Given the description of an element on the screen output the (x, y) to click on. 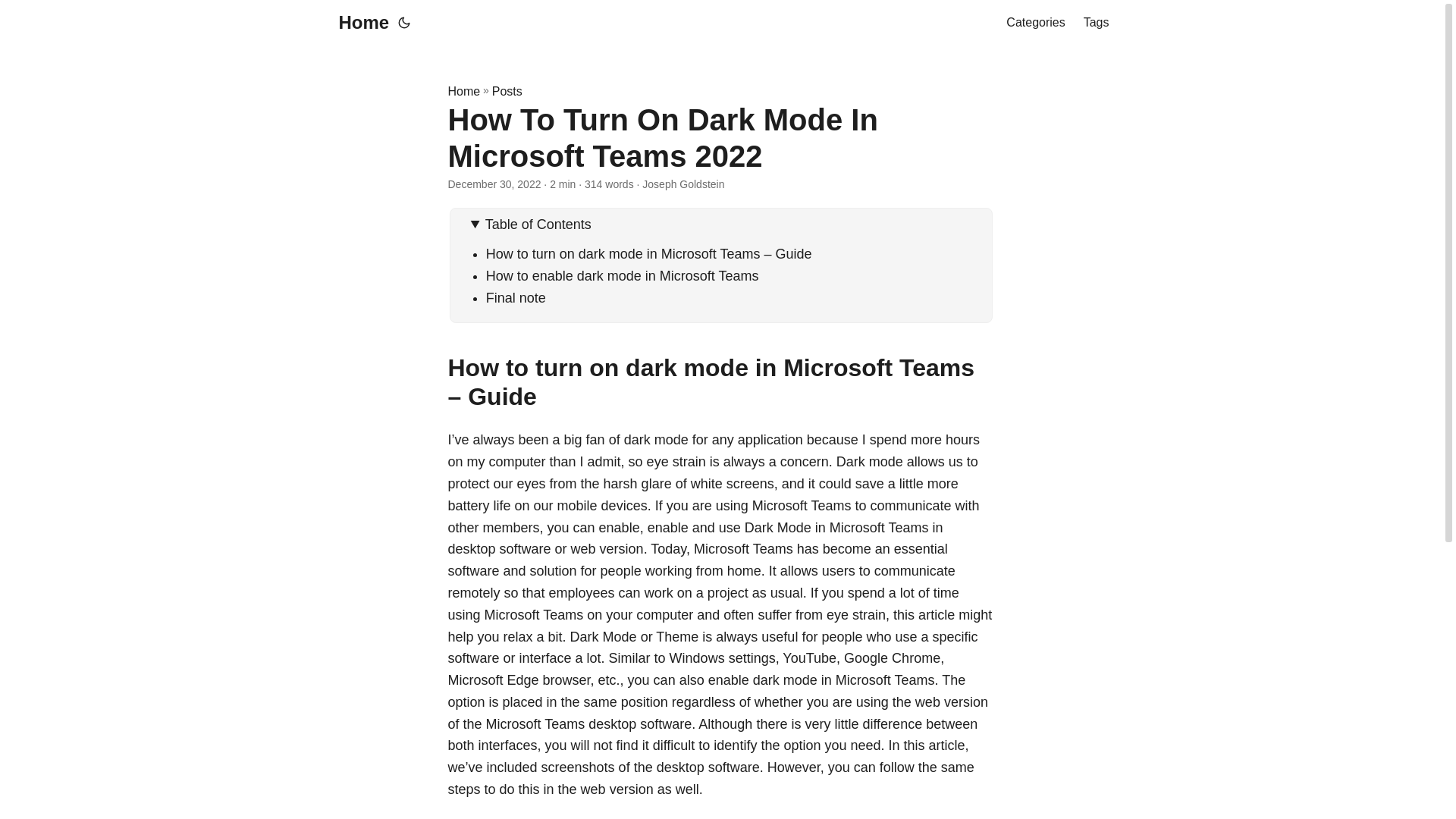
Home (359, 22)
How to enable dark mode in Microsoft Teams (622, 275)
Categories (1035, 22)
Categories (1035, 22)
Posts (507, 91)
Home (463, 91)
Final note (516, 297)
